Given the description of an element on the screen output the (x, y) to click on. 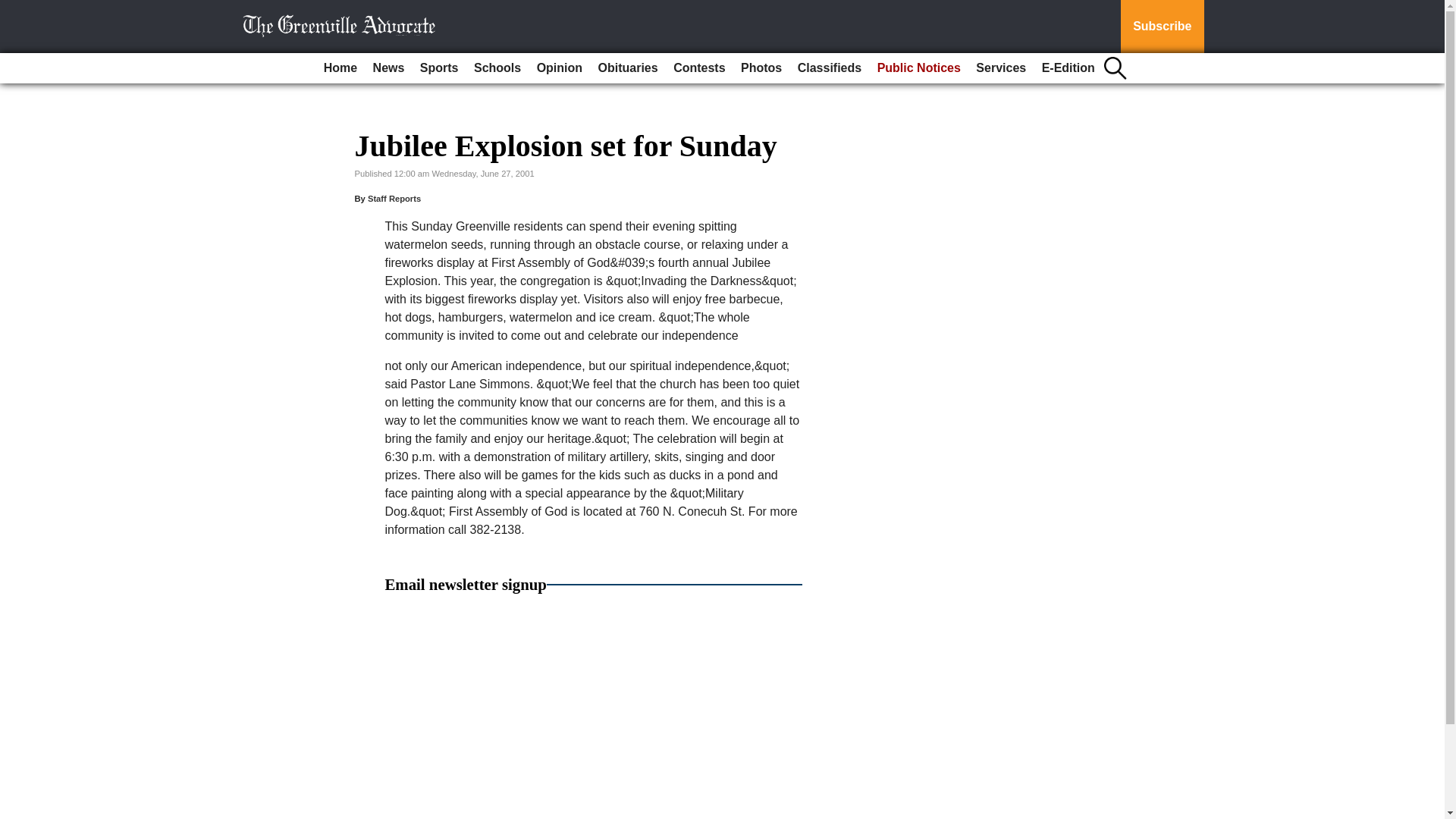
Home (339, 68)
Public Notices (918, 68)
Services (1000, 68)
Schools (497, 68)
Contests (698, 68)
Staff Reports (394, 198)
Obituaries (627, 68)
Opinion (559, 68)
Sports (438, 68)
News (388, 68)
